Given the description of an element on the screen output the (x, y) to click on. 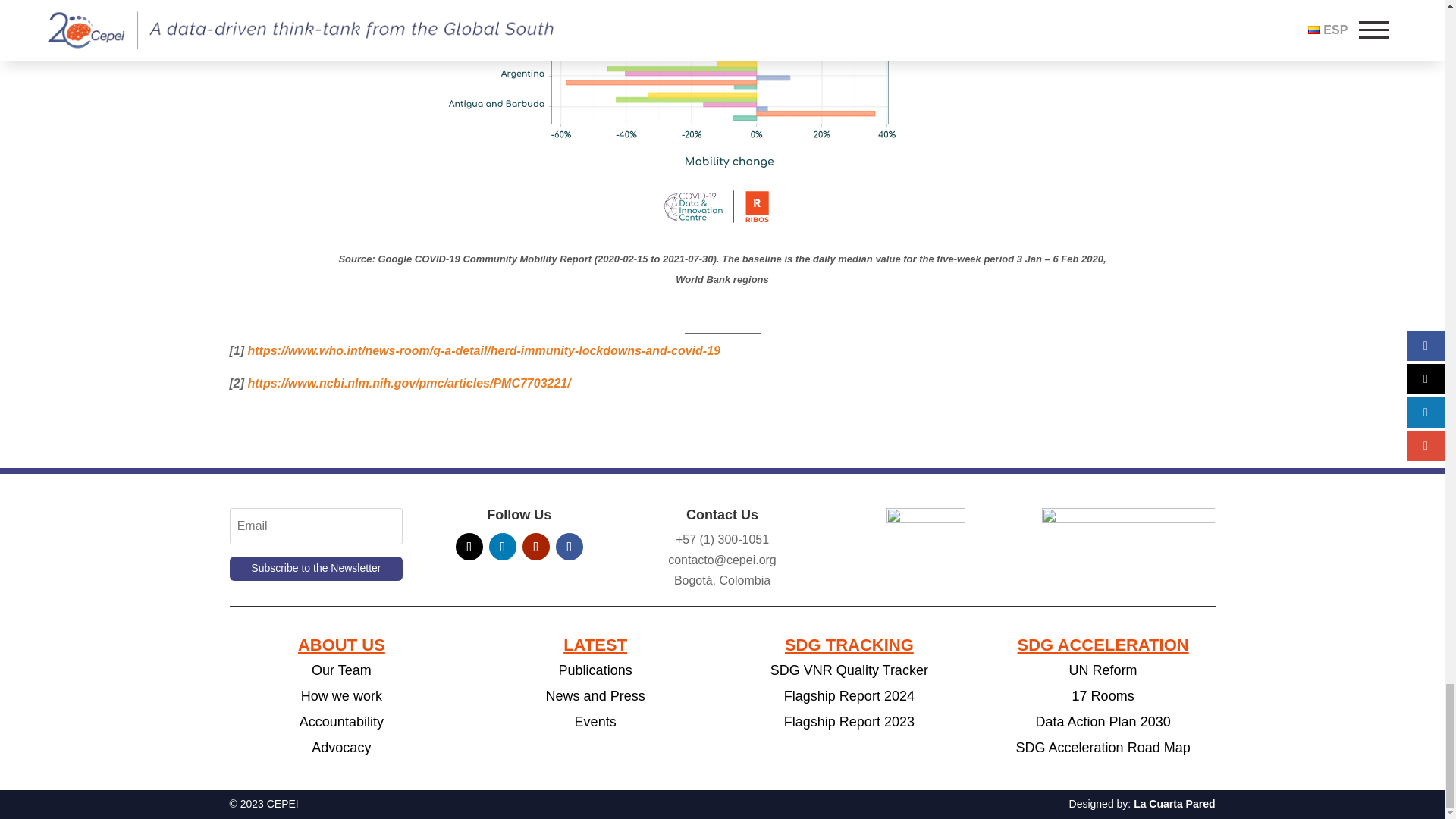
Follow on LinkedIn (502, 546)
Follow on Twitter (469, 546)
Follow on Youtube (536, 546)
Follow on Facebook (569, 546)
